Given the description of an element on the screen output the (x, y) to click on. 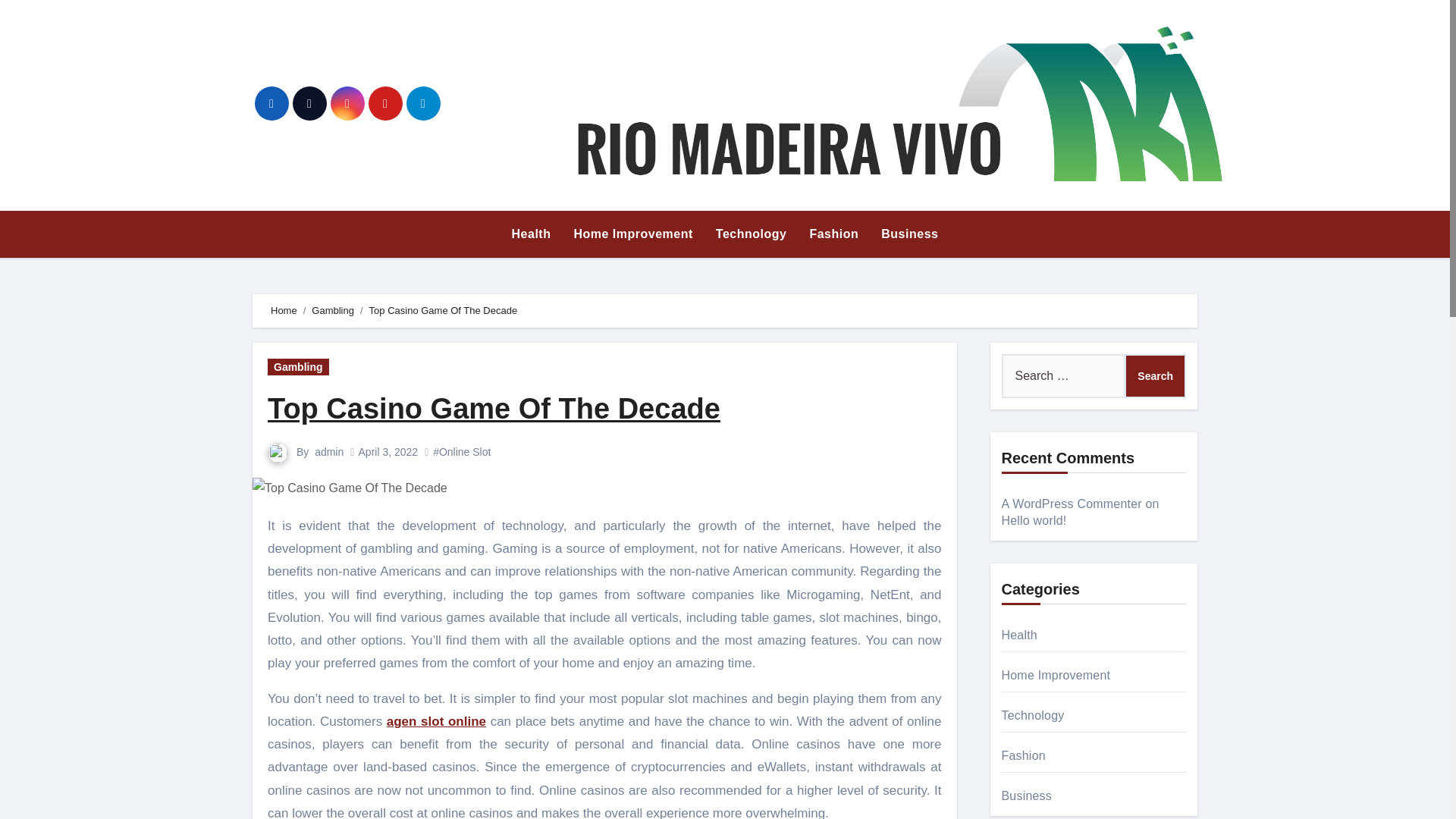
Technology (750, 233)
Business (909, 233)
agen slot online (436, 721)
April 3, 2022 (388, 451)
Fashion (833, 233)
Fashion (833, 233)
Search (1155, 375)
Home (283, 310)
Search (1155, 375)
Technology (750, 233)
